Given the description of an element on the screen output the (x, y) to click on. 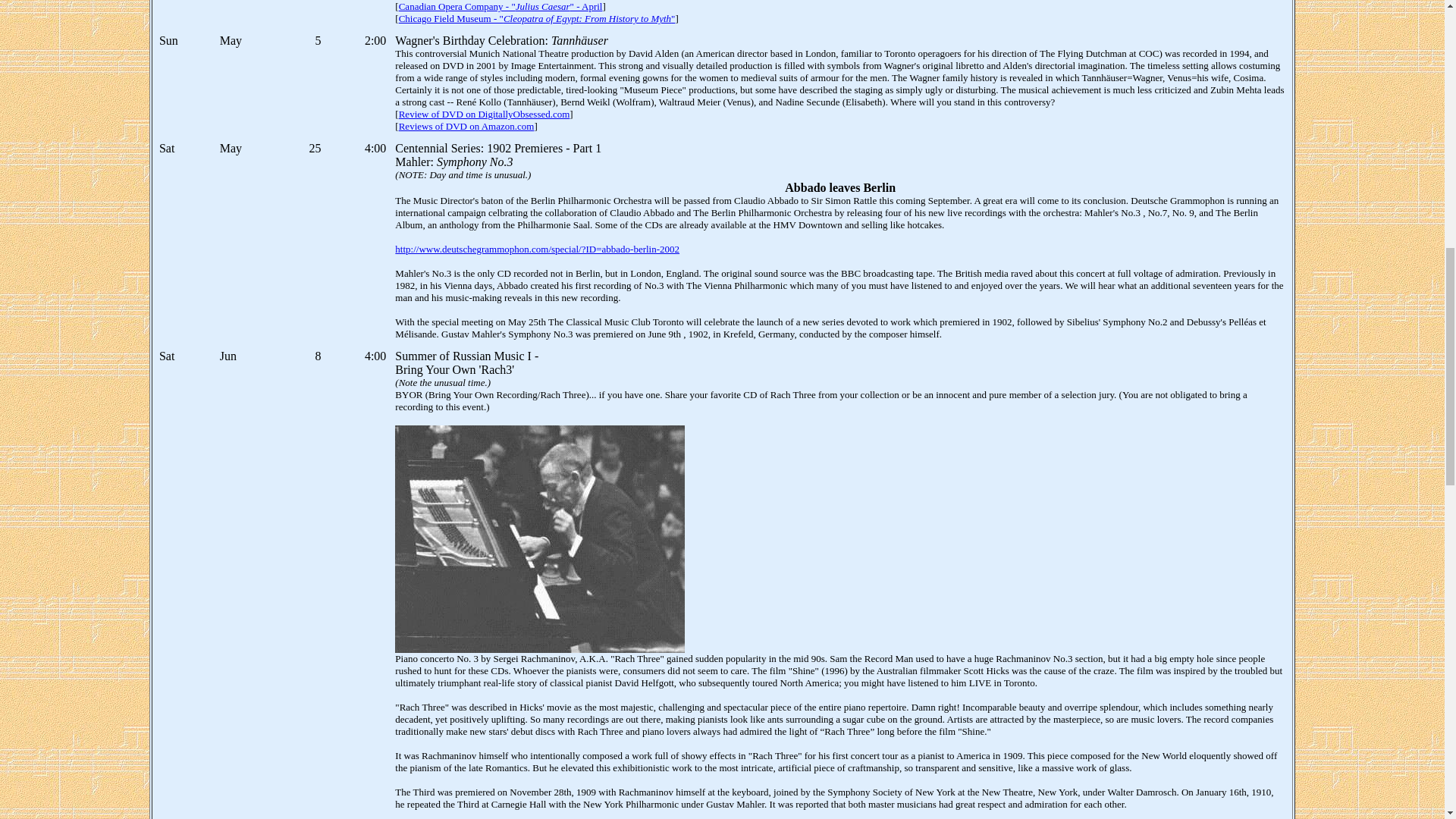
Review of DVD on DigitallyObsessed.com (484, 113)
Rachmaninov at the keyboard (539, 538)
Canadian Opera Company - "Julius Caesar" - April (500, 6)
Reviews of DVD on Amazon.com (466, 125)
